Given the description of an element on the screen output the (x, y) to click on. 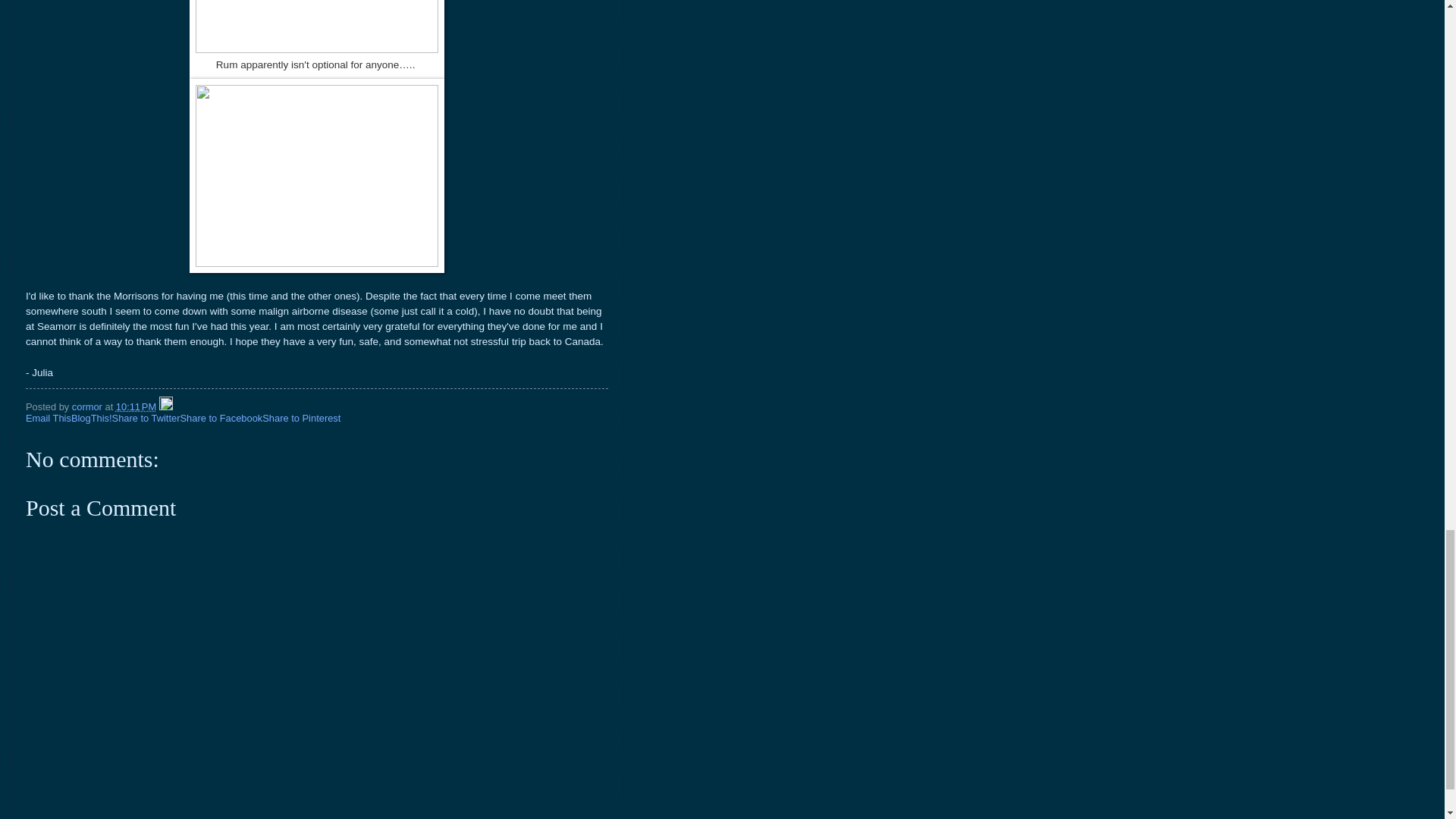
Edit Post (165, 406)
BlogThis! (91, 418)
Share to Pinterest (301, 418)
Share to Facebook (220, 418)
BlogThis! (91, 418)
Share to Pinterest (301, 418)
permanent link (135, 406)
Email This (48, 418)
author profile (87, 406)
Share to Facebook (220, 418)
Share to Twitter (146, 418)
Email This (48, 418)
Share to Twitter (146, 418)
cormor (87, 406)
